Given the description of an element on the screen output the (x, y) to click on. 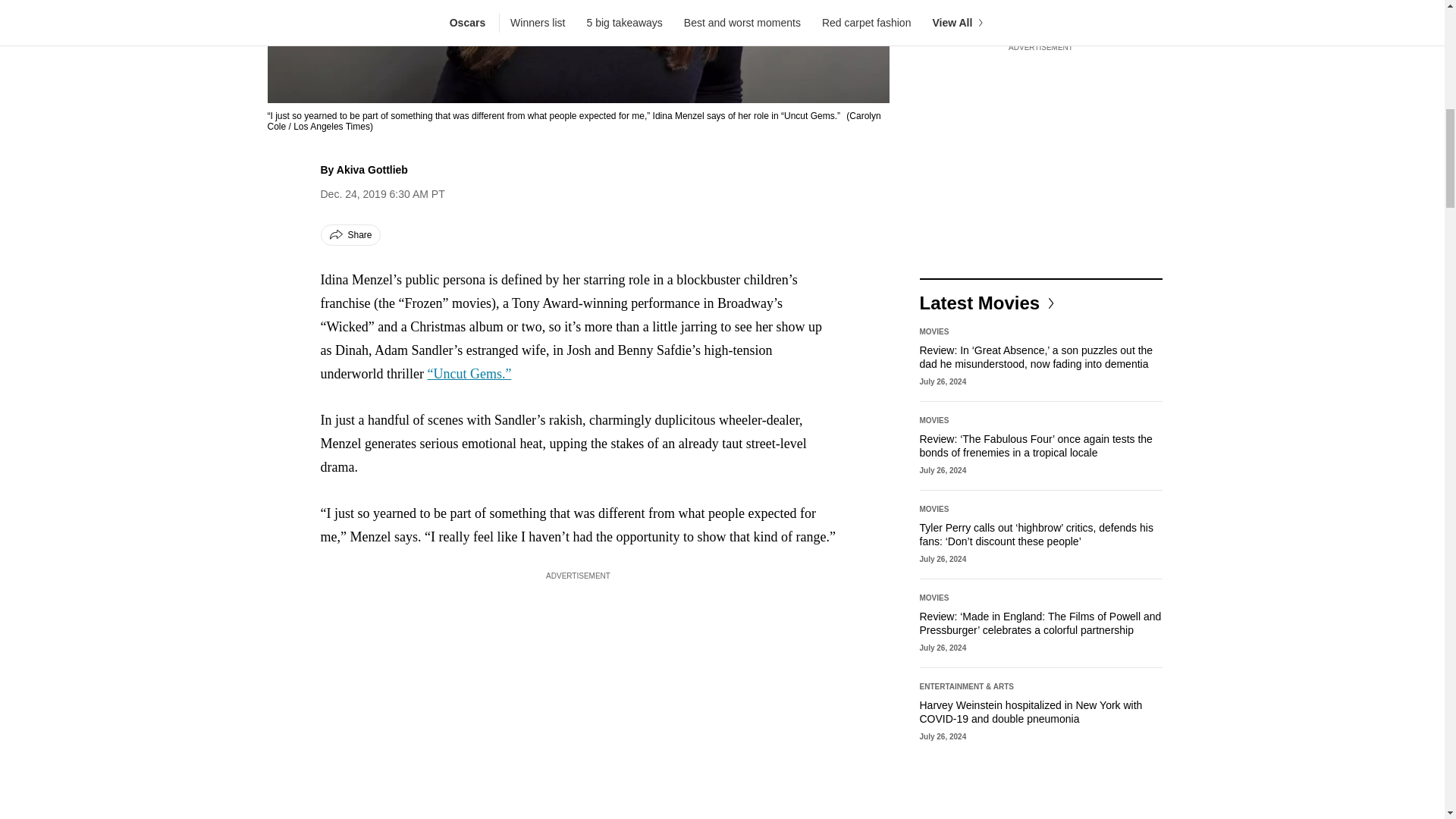
3rd party ad content (1040, 150)
